Given the description of an element on the screen output the (x, y) to click on. 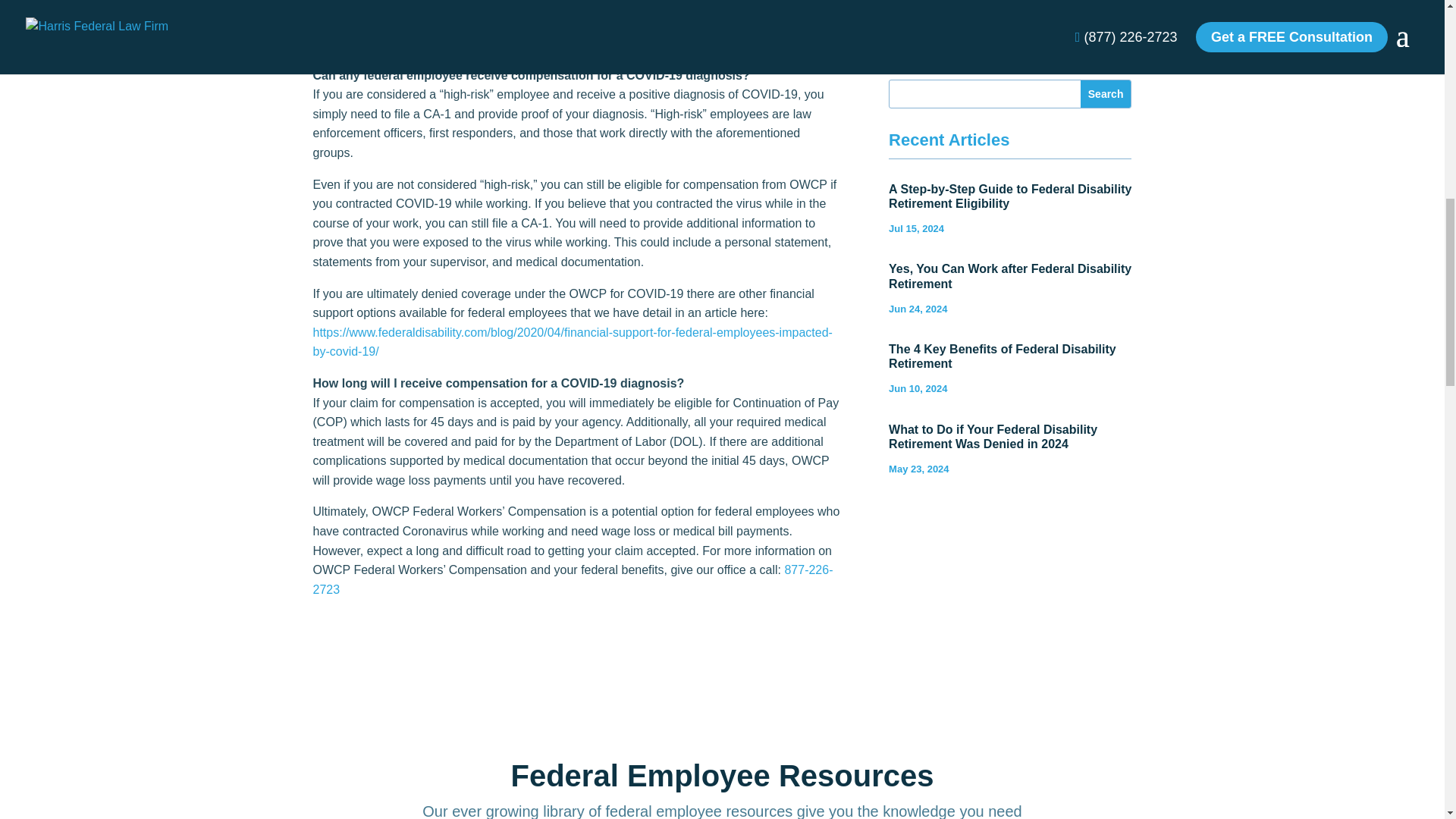
Search (1105, 93)
877-226-2723 (572, 579)
Submit (947, 3)
Search (1105, 93)
Yes, You Can Work after Federal Disability Retirement (1009, 275)
The 4 Key Benefits of Federal Disability Retirement (1002, 356)
Submit (947, 3)
Search (1105, 93)
